Given the description of an element on the screen output the (x, y) to click on. 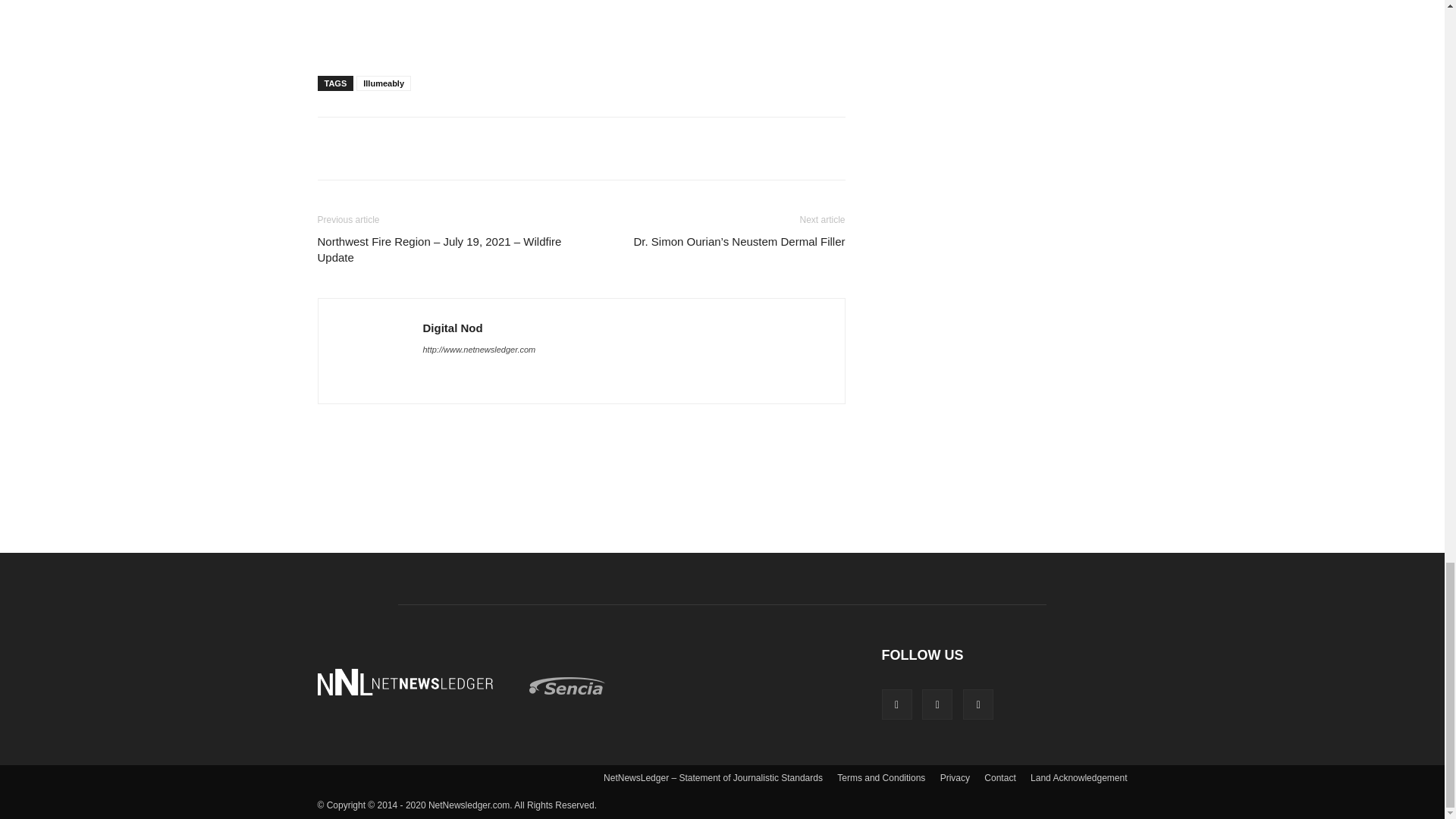
NetNewsLedger (404, 682)
